Given the description of an element on the screen output the (x, y) to click on. 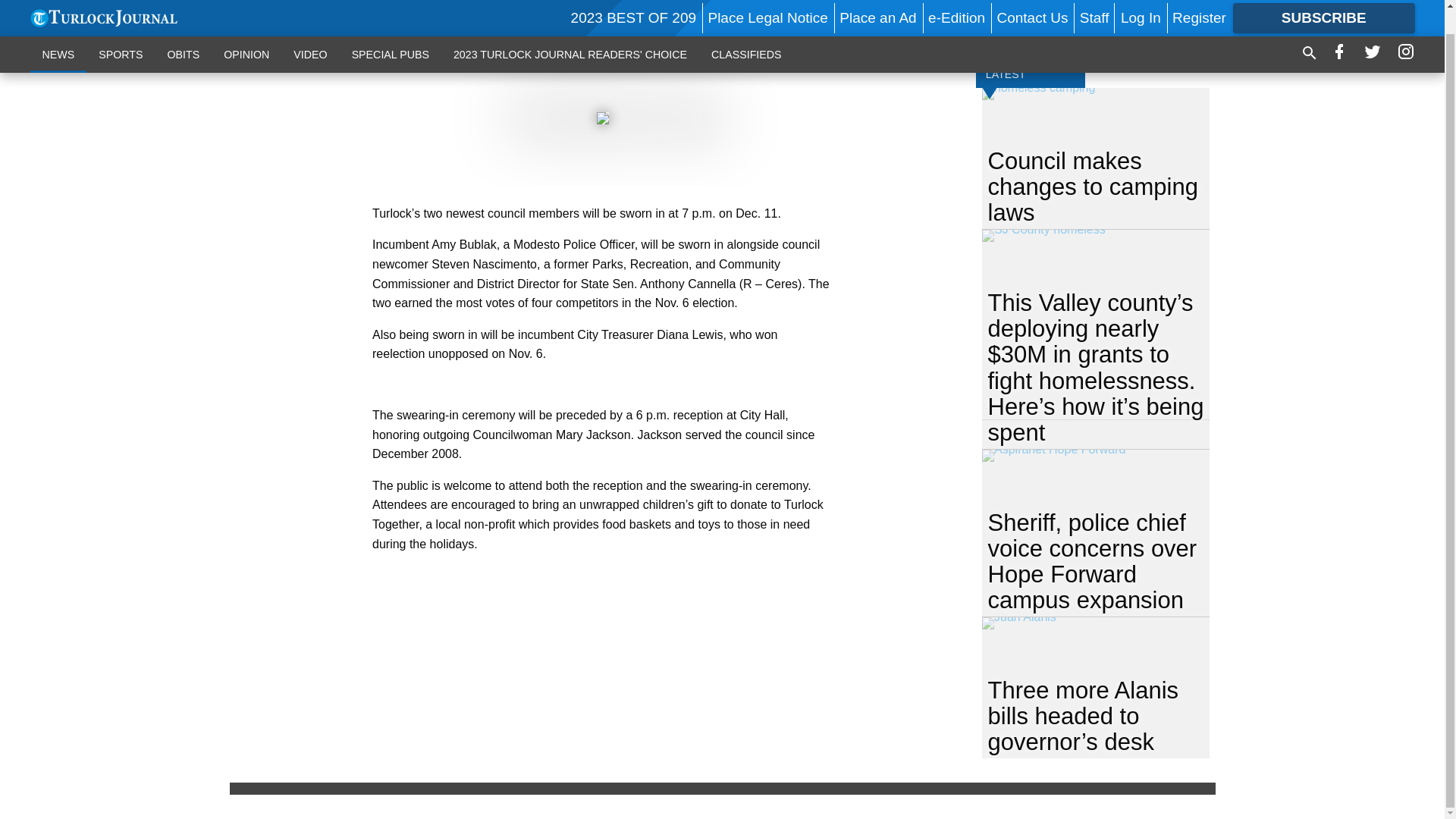
Place Legal Notice (767, 2)
Register (1198, 2)
Place an Ad (877, 2)
2023 BEST OF 209 (632, 2)
e-Edition (956, 2)
SUBSCRIBE (1324, 4)
Contact Us (1031, 2)
Staff (1094, 2)
Log In (1140, 2)
